Given the description of an element on the screen output the (x, y) to click on. 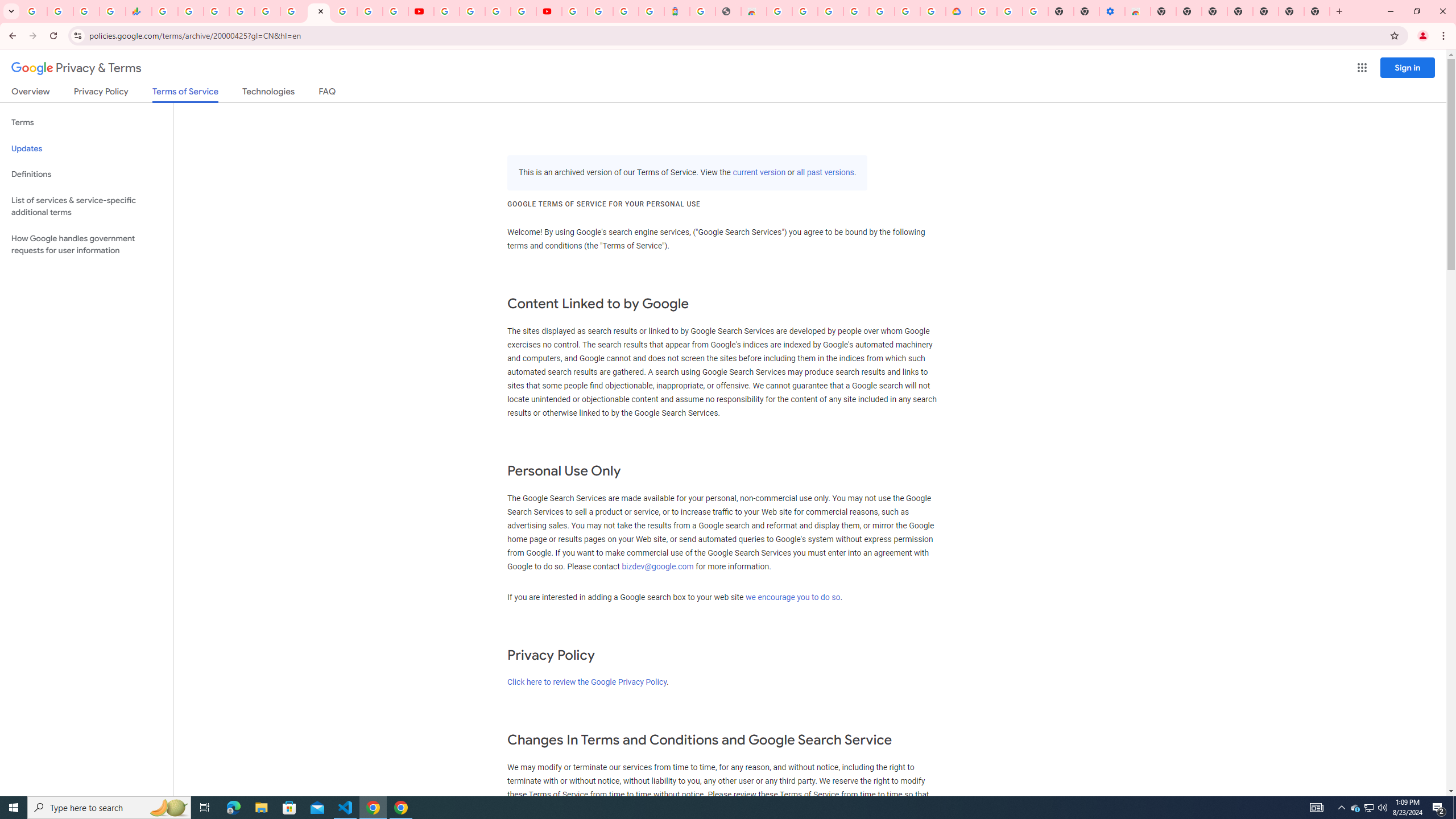
Sign in - Google Accounts (242, 11)
Ad Settings (804, 11)
Chrome Web Store - Accessibility extensions (1137, 11)
YouTube (446, 11)
Atour Hotel - Google hotels (676, 11)
YouTube (421, 11)
